Given the description of an element on the screen output the (x, y) to click on. 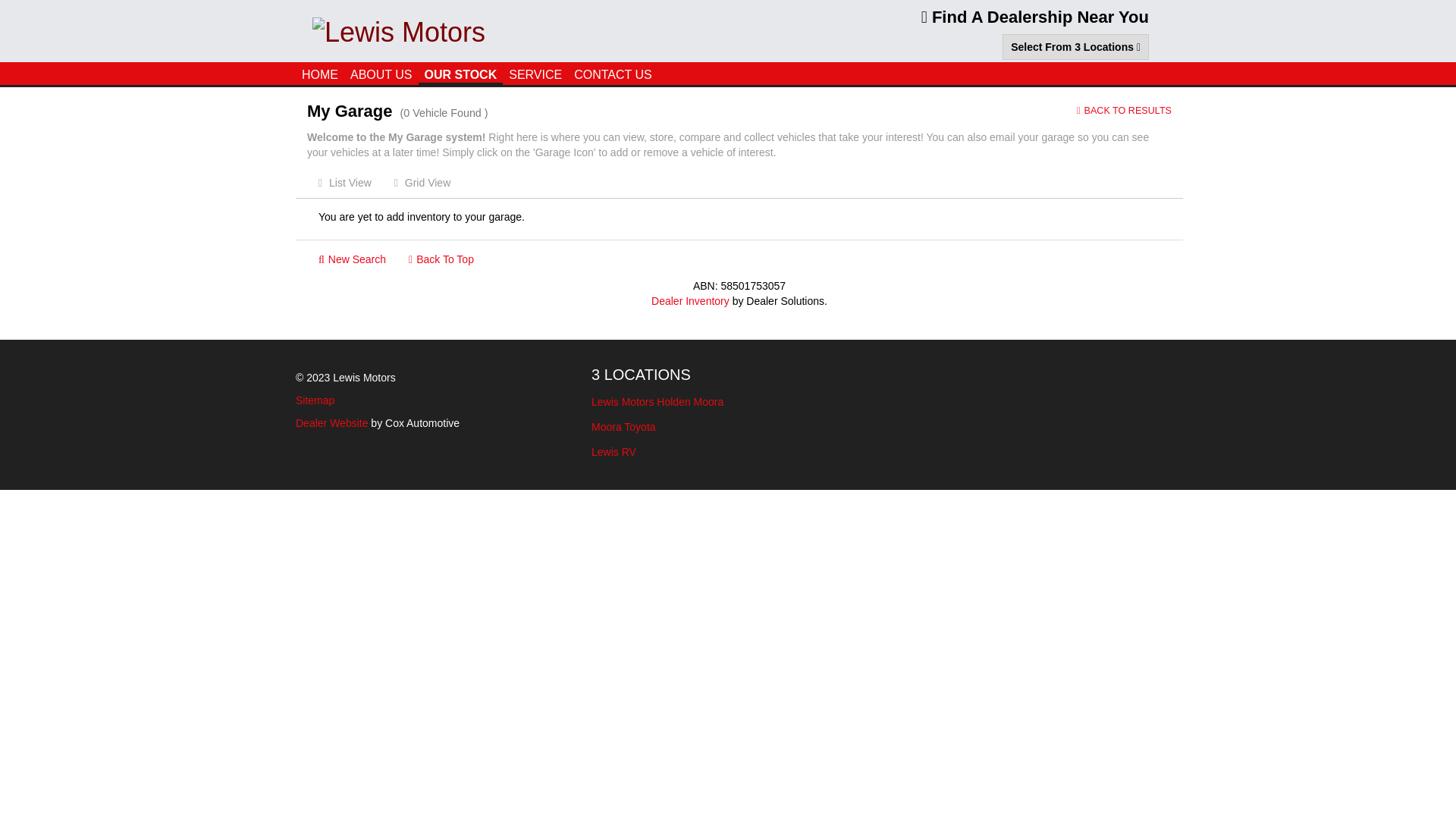
Moora Toyota Element type: text (727, 426)
HOME Element type: text (319, 72)
OUR STOCK Element type: text (460, 73)
Dealer Inventory Element type: text (690, 300)
Dealer Website Element type: text (331, 423)
Select From 3 Locations Element type: text (1075, 46)
Grid View Element type: text (421, 182)
Lewis Motors Holden Moora Element type: text (727, 401)
Lewis Motors Element type: hover (398, 29)
New Search Element type: text (352, 259)
BACK TO RESULTS Element type: text (1124, 110)
Back To Top Element type: text (441, 259)
My Garage(0 Vehicle Found ) Element type: text (480, 111)
SERVICE Element type: text (534, 72)
CONTACT US Element type: text (612, 72)
ABOUT US Element type: text (381, 72)
Lewis RV Element type: text (727, 451)
List View Element type: text (344, 182)
Sitemap Element type: text (314, 400)
